Given the description of an element on the screen output the (x, y) to click on. 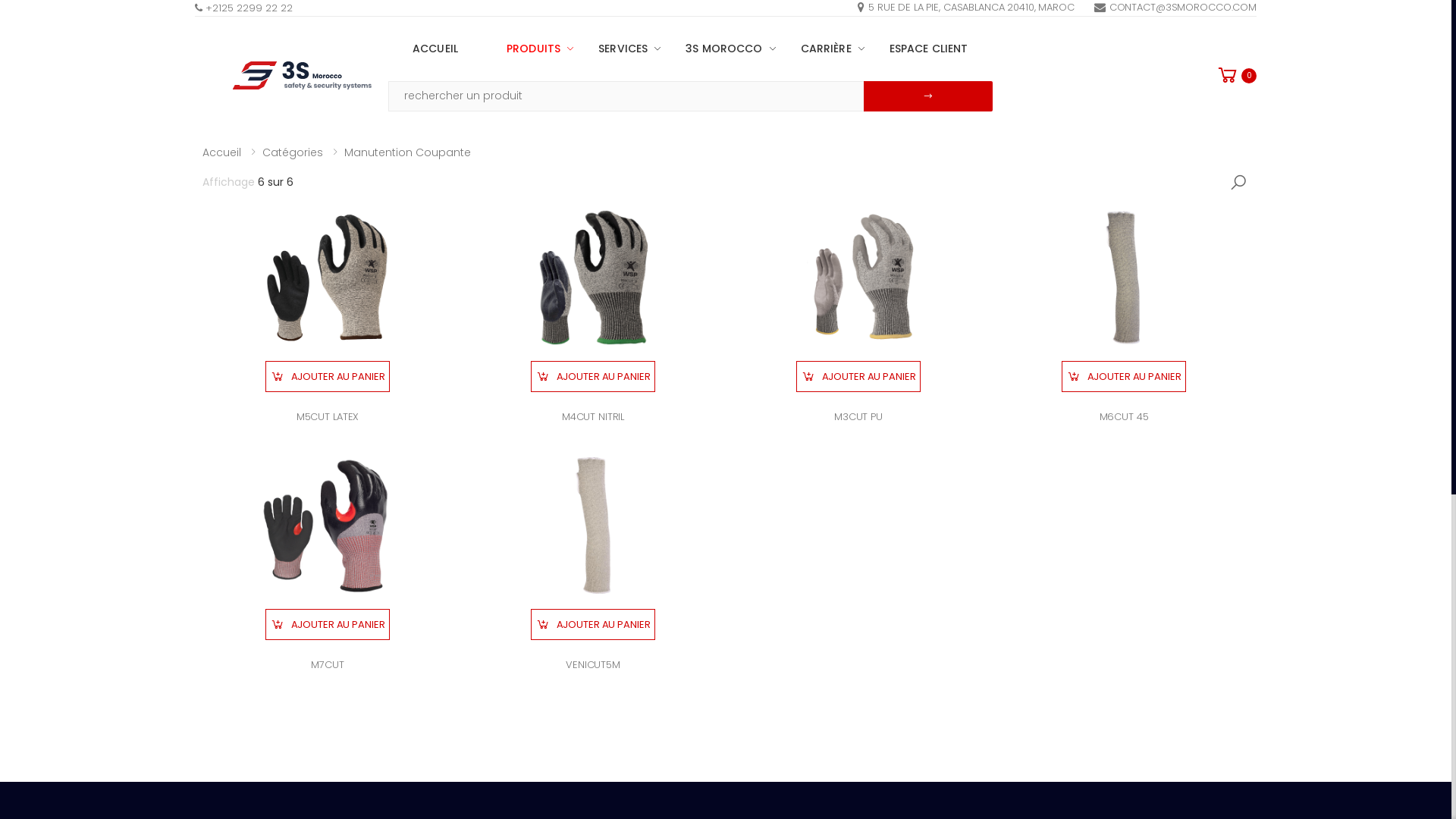
Search Element type: hover (1237, 182)
M6CUT 45 Element type: text (1123, 416)
CONTACT@3SMOROCCO.COM Element type: text (1175, 7)
0 Element type: text (1235, 75)
SERVICES Element type: text (617, 48)
Accueil Element type: text (221, 152)
AJOUTER AU PANIER Element type: text (858, 376)
PRODUITS Element type: text (528, 48)
AJOUTER AU PANIER Element type: text (327, 624)
M4CUT NITRIL Element type: text (592, 416)
+2125 2299 22 22 Element type: text (243, 7)
AJOUTER AU PANIER Element type: text (592, 624)
ESPACE CLIENT Element type: text (928, 48)
ACCUEIL Element type: text (435, 48)
AJOUTER AU PANIER Element type: text (592, 376)
M3CUT PU Element type: text (858, 416)
VENICUT5M Element type: text (592, 664)
5 RUE DE LA PIE, CASABLANCA 20410, MAROC Element type: text (965, 7)
M5CUT LATEX Element type: text (327, 416)
AJOUTER AU PANIER Element type: text (327, 376)
3S MOROCCO Element type: text (718, 48)
Manutention Coupante Element type: text (407, 152)
M7CUT Element type: text (326, 664)
AJOUTER AU PANIER Element type: text (1123, 376)
